Given the description of an element on the screen output the (x, y) to click on. 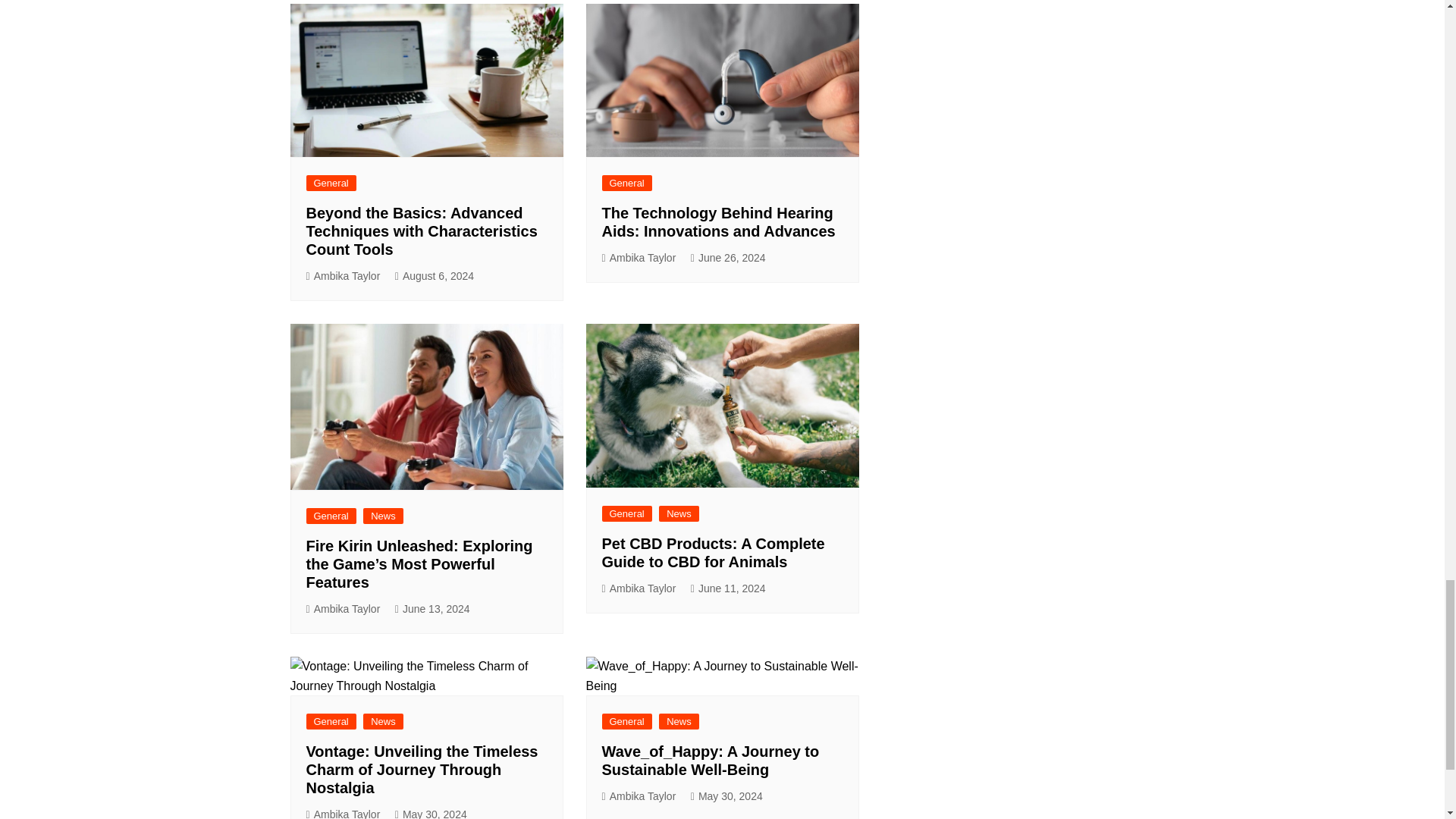
General (330, 182)
Ambika Taylor (342, 276)
August 6, 2024 (434, 276)
